Given the description of an element on the screen output the (x, y) to click on. 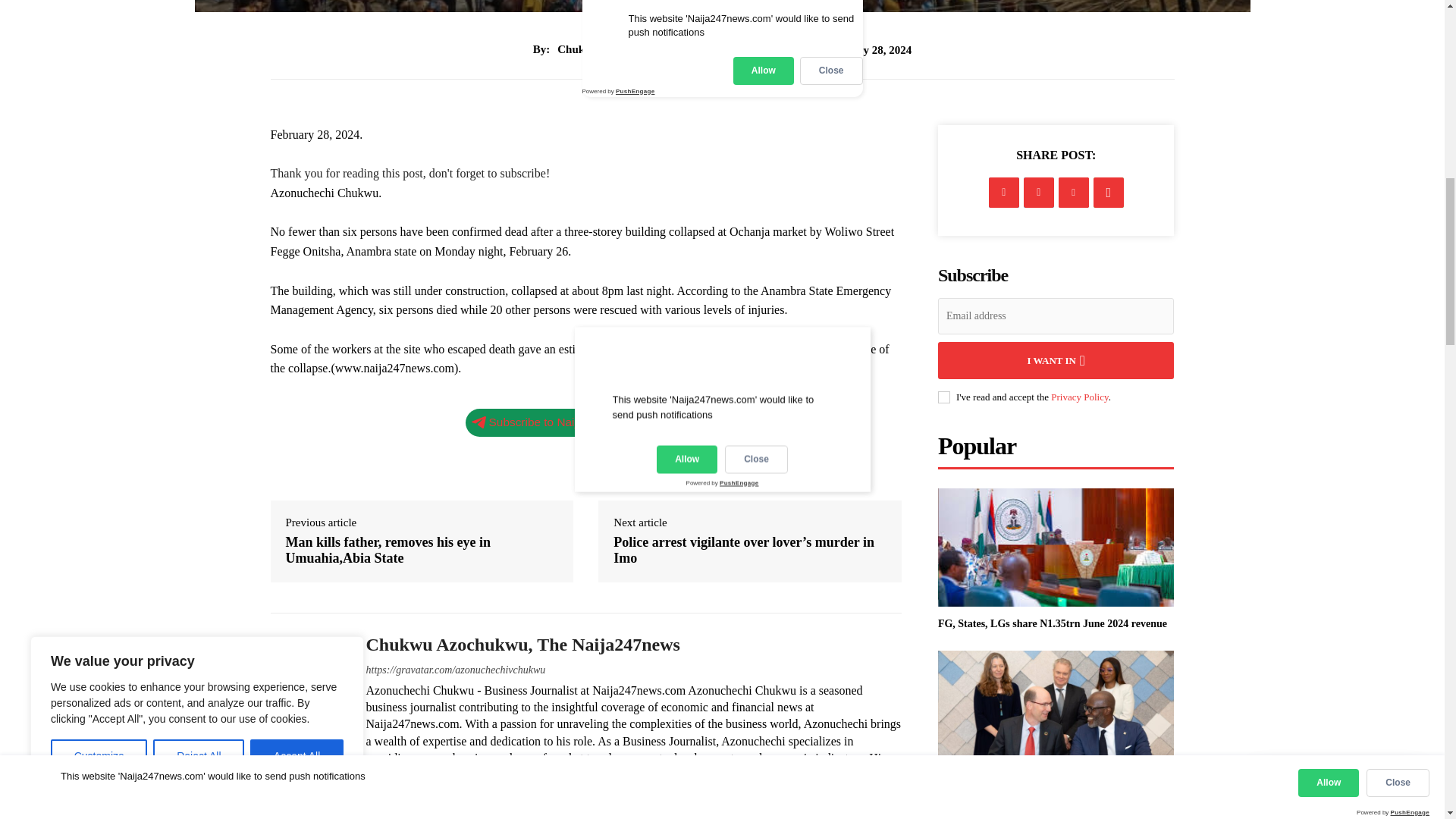
Facebook (1003, 192)
FG, States, LGs share N1.35trn June 2024 revenue (1055, 547)
FG, States, LGs share N1.35trn June 2024 revenue (1052, 623)
WhatsApp (1108, 192)
Twitter (1038, 192)
Pinterest (1073, 192)
